Given the description of an element on the screen output the (x, y) to click on. 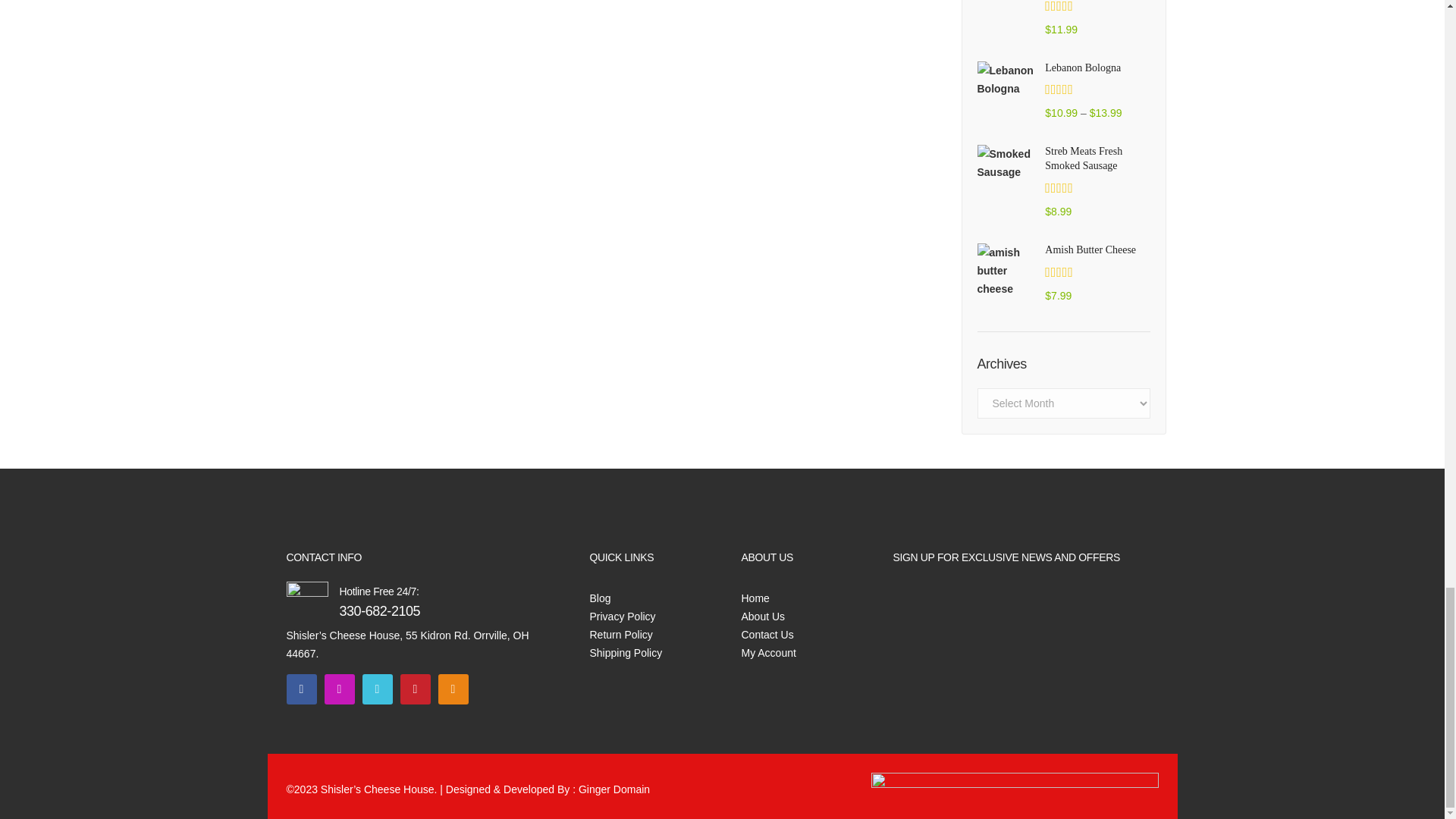
Pinterest (415, 689)
Amish Butter Cheese (1006, 270)
Streb Meats Fresh Smoked Sausage (1097, 158)
Streb Meats Fresh Smoked Sausage (1006, 162)
Lebanon Bologna (1097, 68)
Instagram (339, 689)
Twitter (377, 689)
Amish Butter Cheese (1097, 250)
Facebook (301, 689)
Lebanon Bologna (1006, 79)
